Given the description of an element on the screen output the (x, y) to click on. 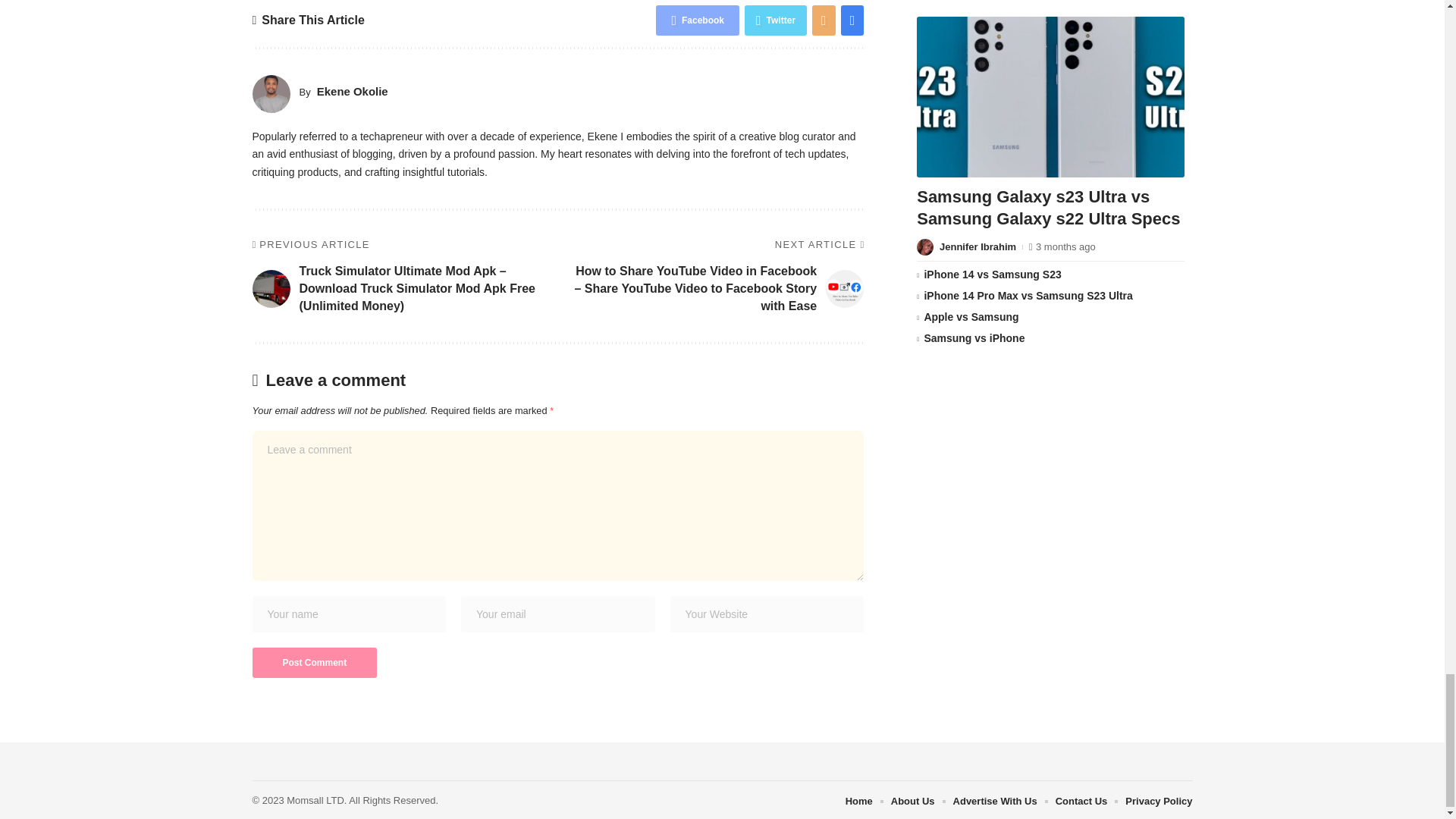
Post Comment (314, 662)
